Given the description of an element on the screen output the (x, y) to click on. 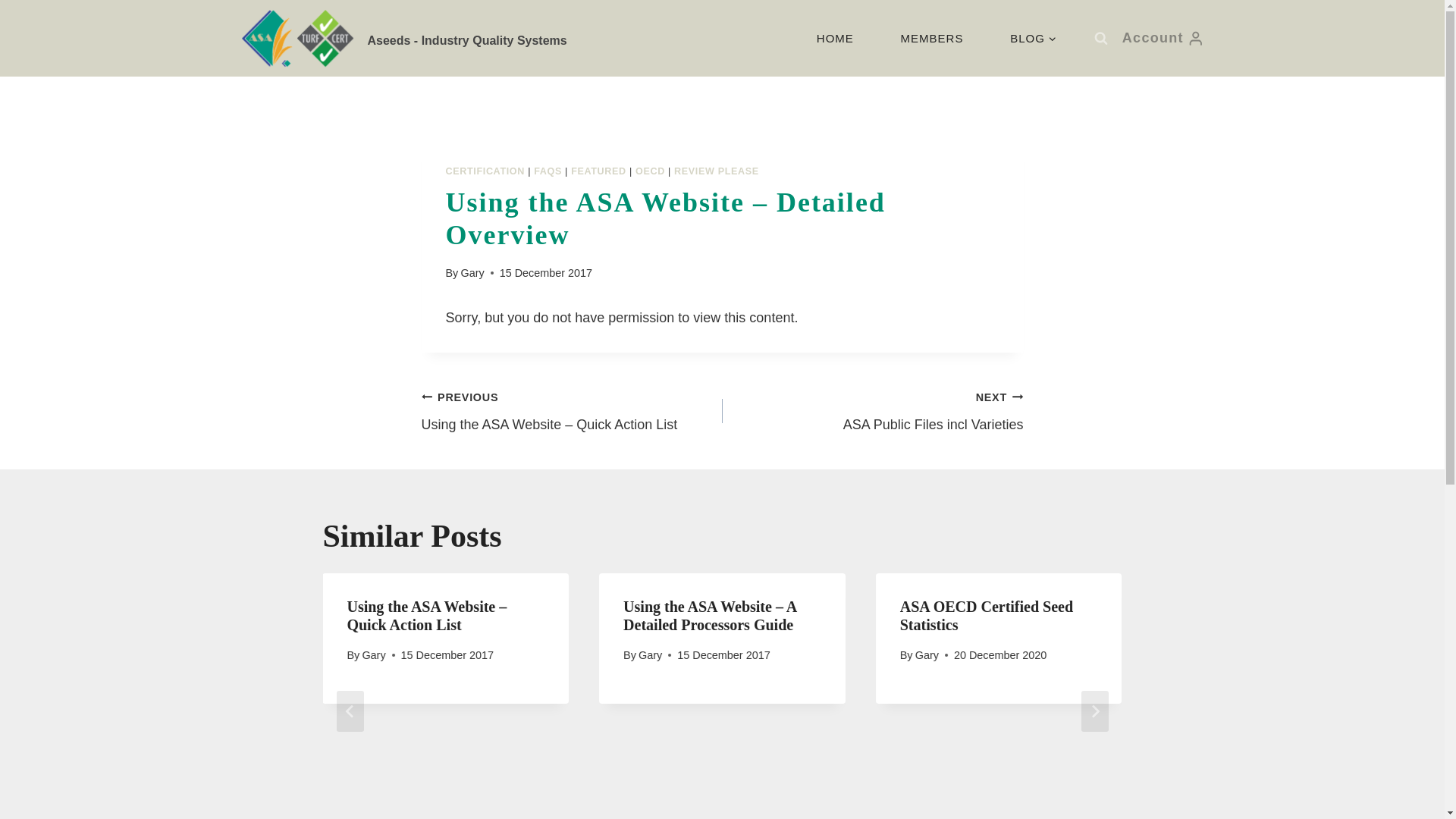
FAQS (548, 171)
CERTIFICATION (485, 171)
BLOG (872, 410)
REVIEW PLEASE (1032, 38)
HOME (716, 171)
MEMBERS (835, 38)
Aseeds - Industry Quality Systems (932, 38)
Account (404, 38)
Gary (1163, 37)
